Given the description of an element on the screen output the (x, y) to click on. 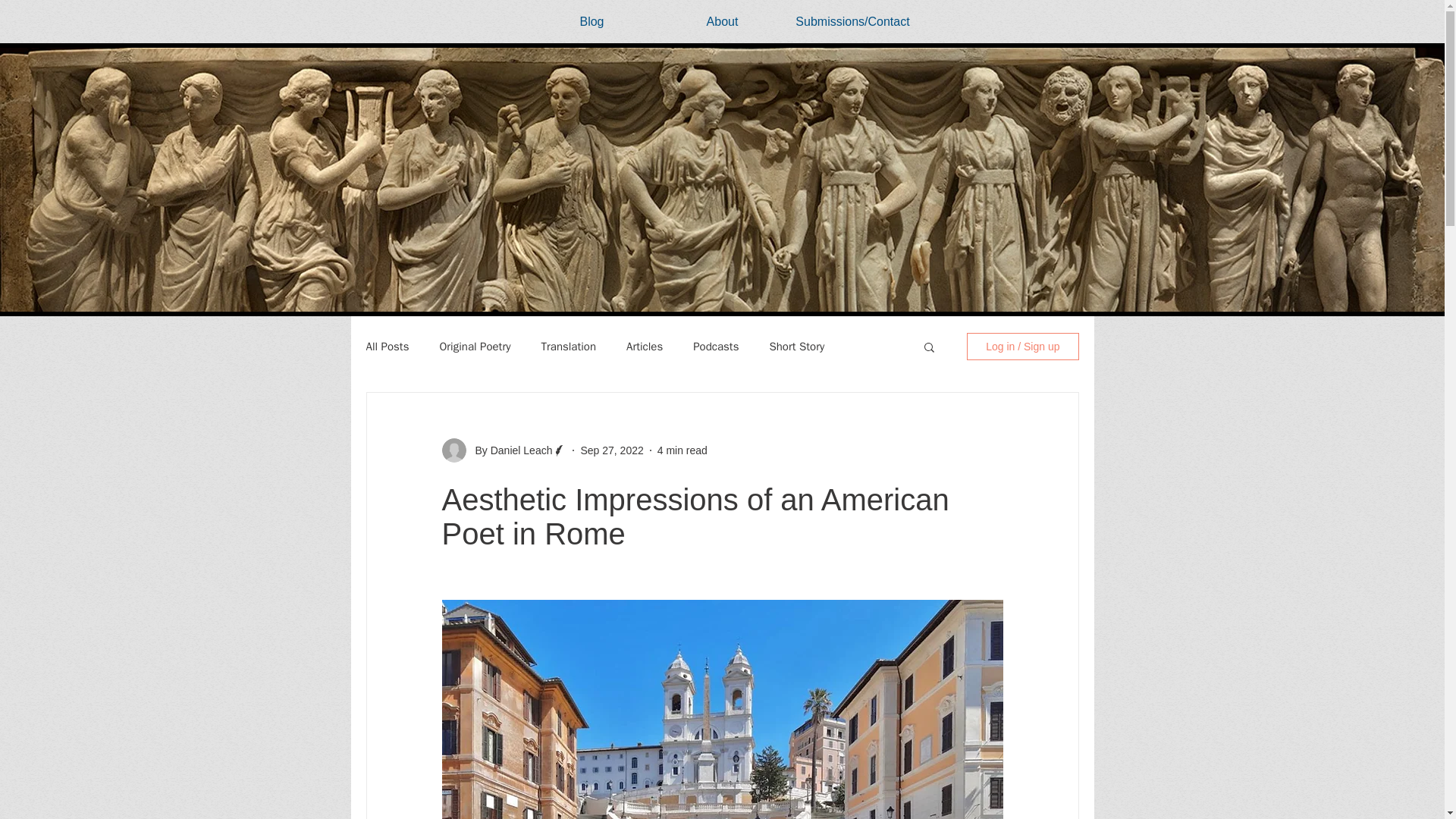
4 min read (682, 450)
Original Poetry (475, 346)
By Daniel Leach (508, 450)
Short Story (796, 346)
Sep 27, 2022 (611, 450)
All Posts (387, 346)
Podcasts (715, 346)
Blog (590, 21)
Translation (568, 346)
Articles (644, 346)
About (721, 21)
